Given the description of an element on the screen output the (x, y) to click on. 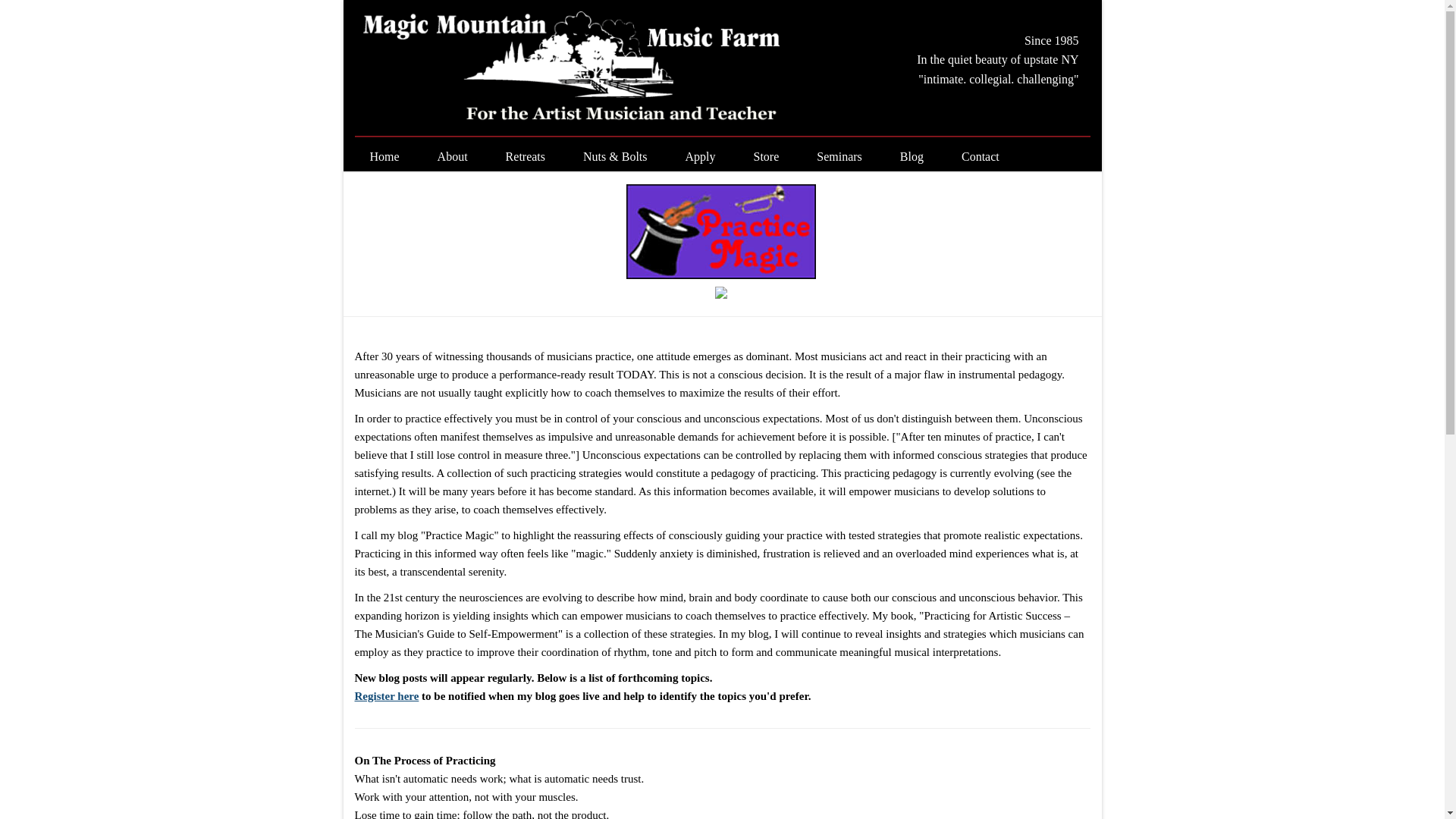
About (456, 157)
Apply (703, 157)
Retreats (528, 157)
Home (388, 157)
